Given the description of an element on the screen output the (x, y) to click on. 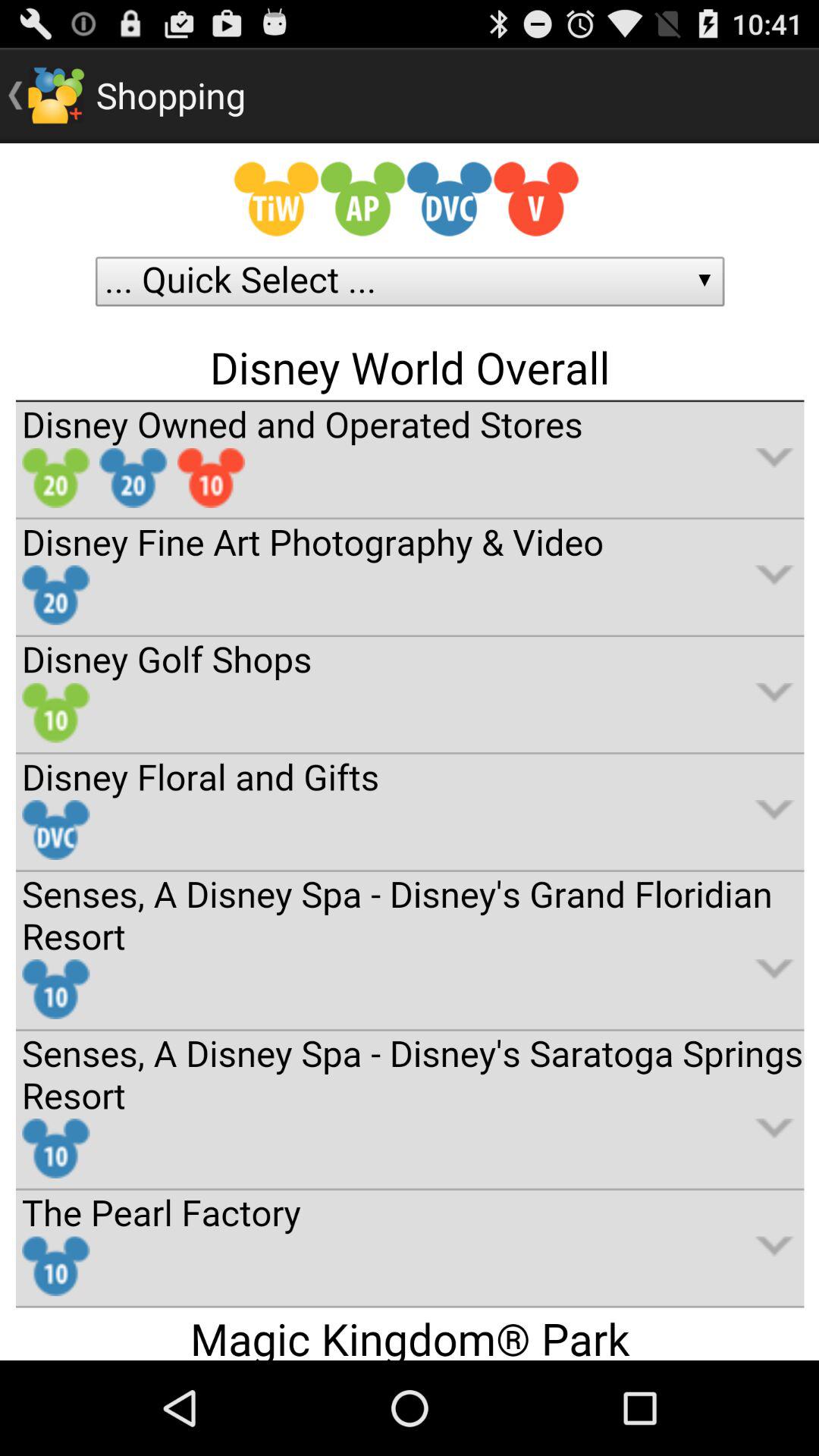
browse features (409, 751)
